Given the description of an element on the screen output the (x, y) to click on. 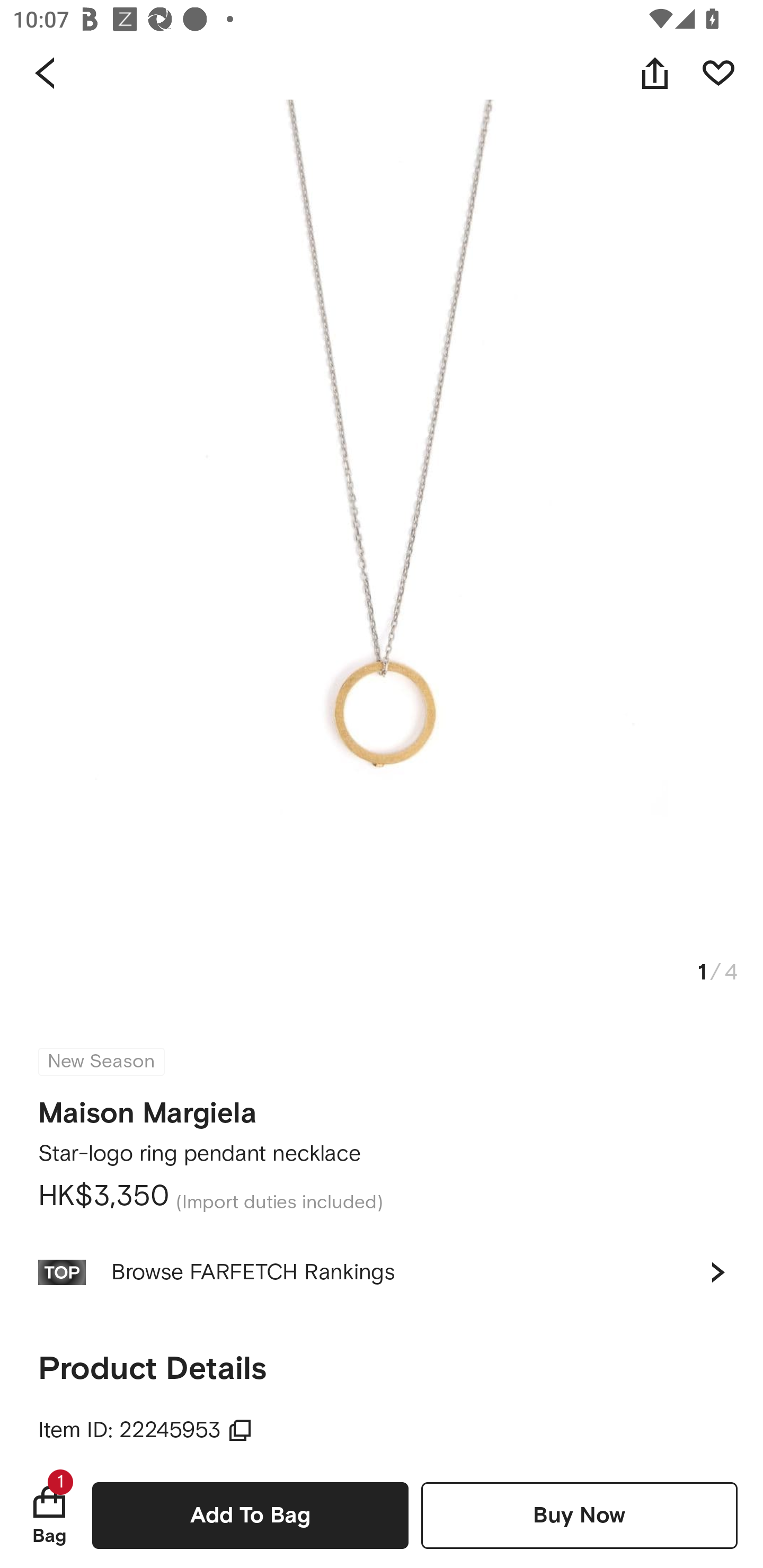
Maison Margiela (147, 1107)
Browse FARFETCH Rankings (381, 1272)
Item ID: 22245953 (145, 1430)
Bag 1 (49, 1515)
Add To Bag (250, 1515)
Buy Now (579, 1515)
